Given the description of an element on the screen output the (x, y) to click on. 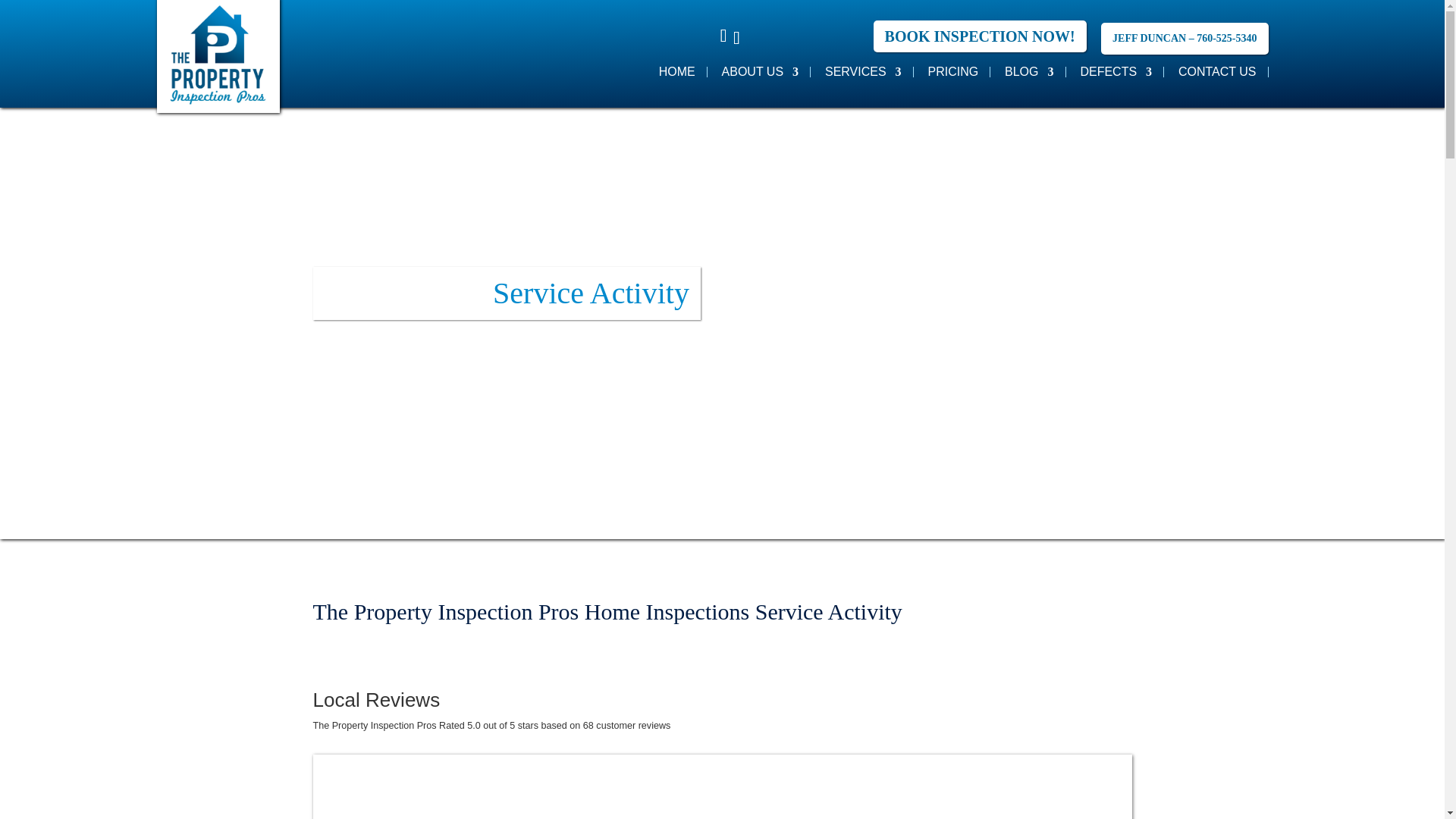
HOME (677, 71)
CONTACT US (1216, 71)
DEFECTS (1115, 71)
SERVICES (863, 71)
PRICING (952, 71)
ABOUT US (760, 71)
BOOK INSPECTION NOW! (979, 36)
BLOG (1028, 71)
